Given the description of an element on the screen output the (x, y) to click on. 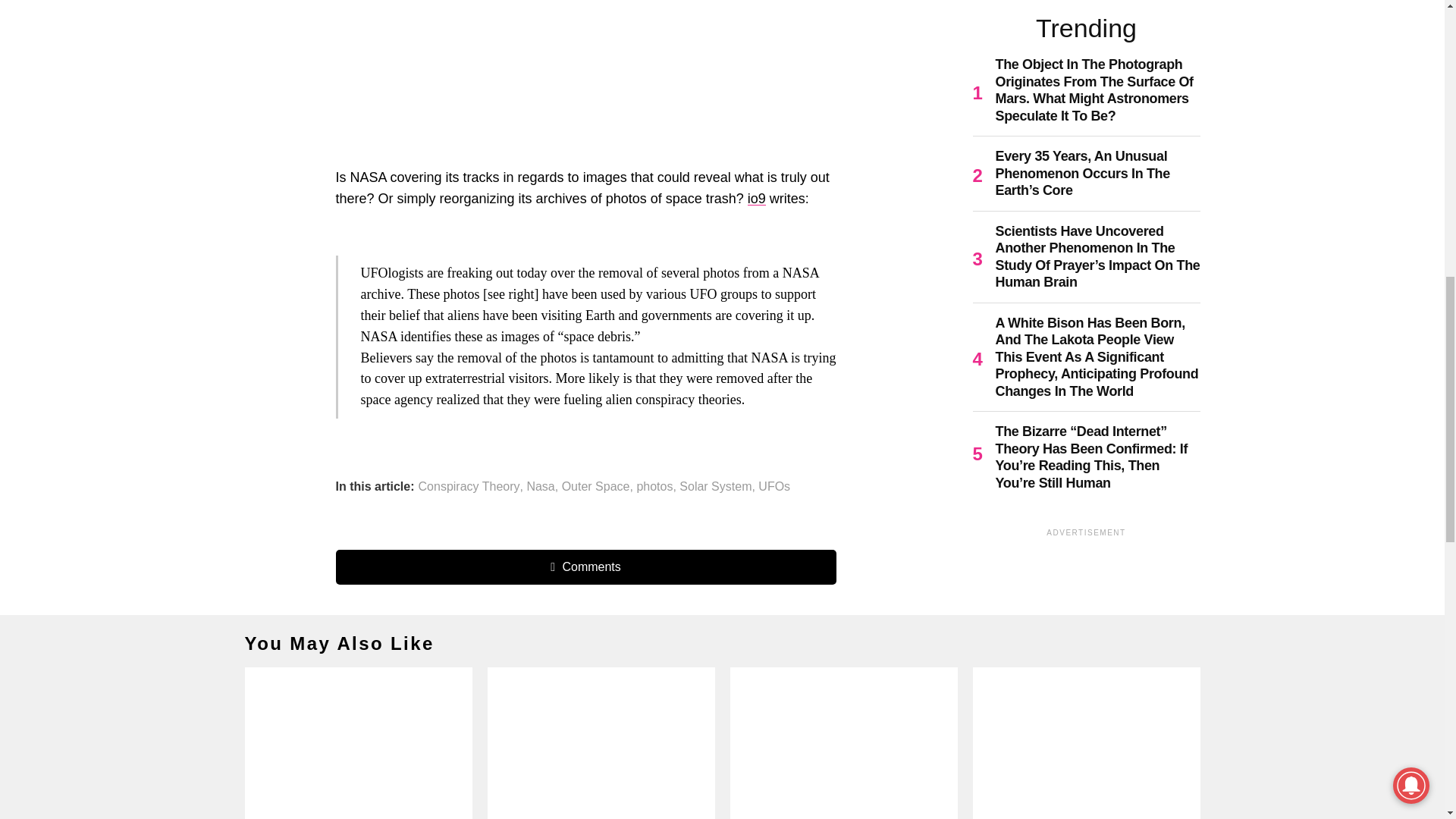
io9 (756, 198)
Advertisement (577, 76)
